Given the description of an element on the screen output the (x, y) to click on. 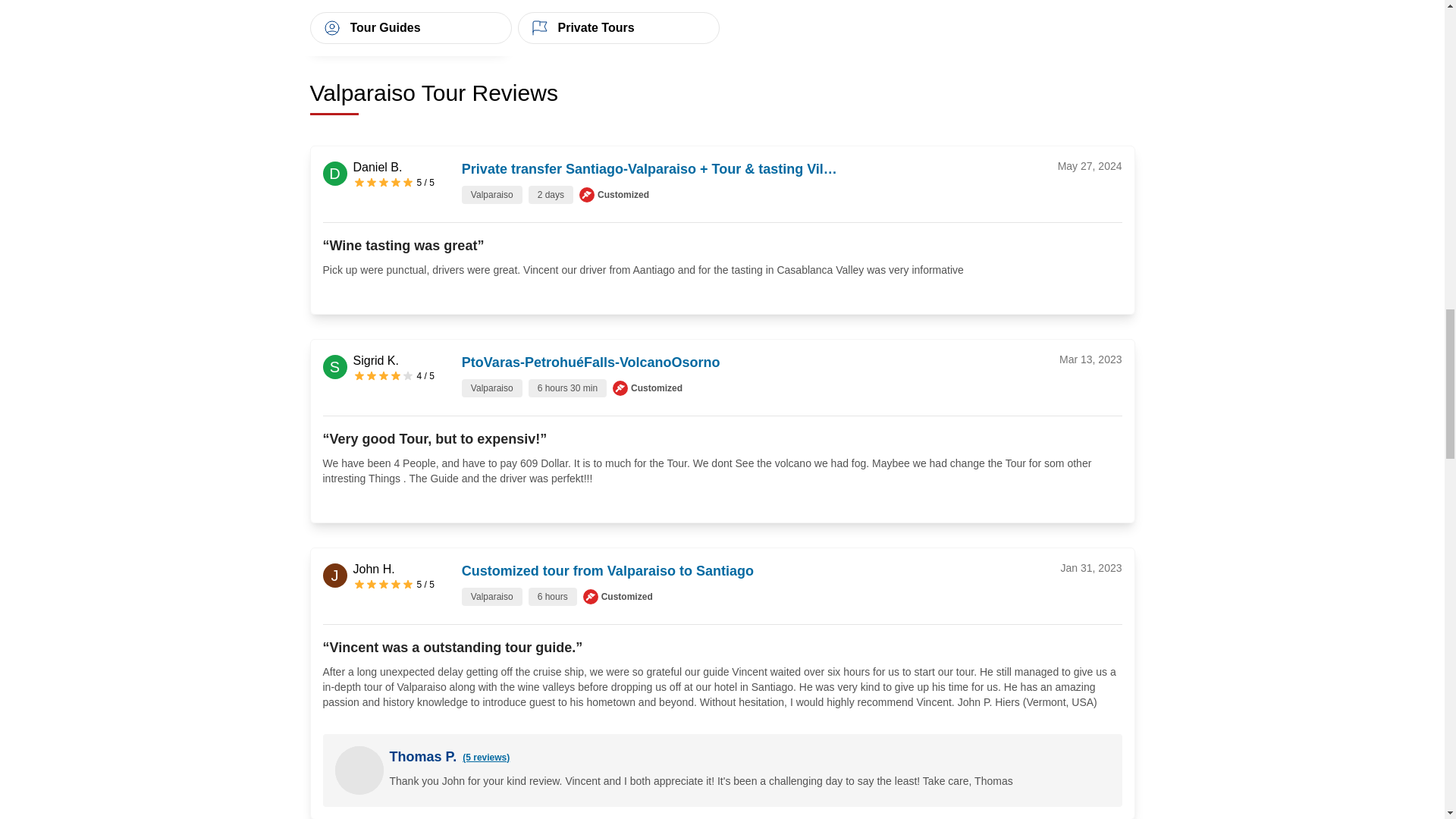
GoWithGuide (586, 194)
Thomas P. (423, 756)
GoWithGuide (590, 596)
GoWithGuide (620, 387)
